Given the description of an element on the screen output the (x, y) to click on. 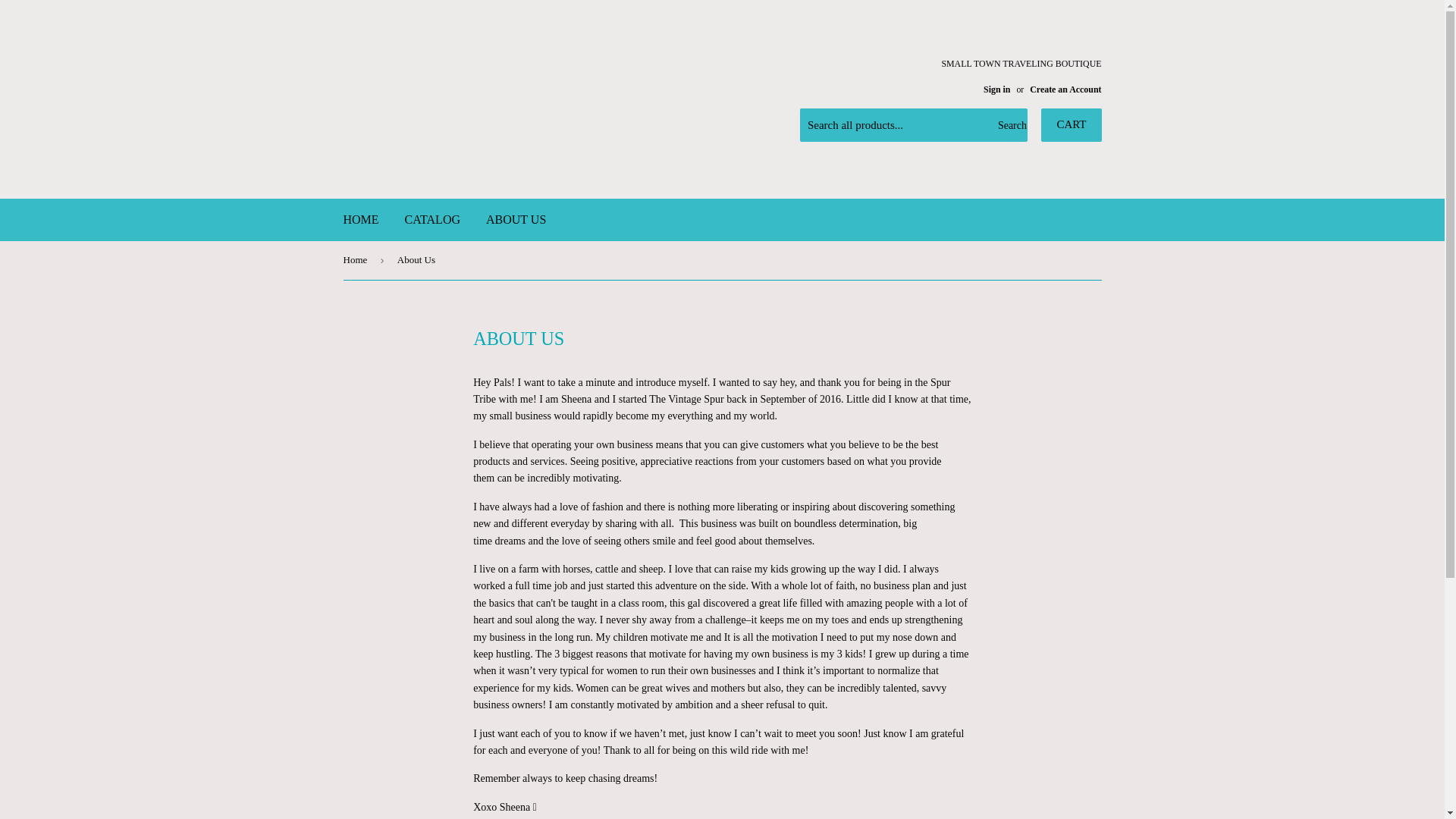
Create an Account (1064, 89)
HOME (360, 219)
CATALOG (432, 219)
Sign in (997, 89)
Search (1009, 125)
CART (1070, 124)
